Given the description of an element on the screen output the (x, y) to click on. 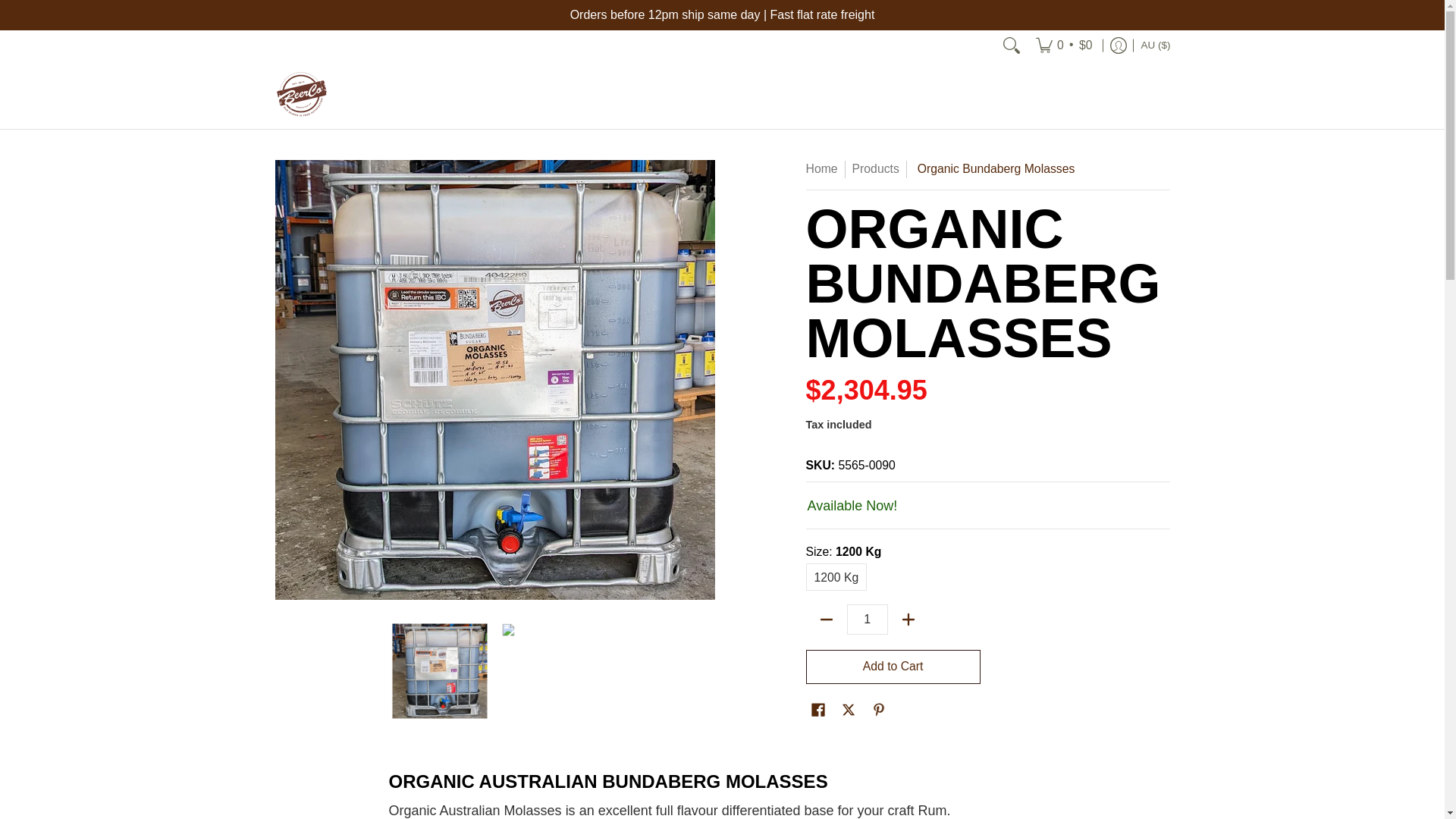
Log in (1118, 45)
BI (958, 94)
BG (961, 20)
CA (955, 203)
CM (965, 167)
Cart (1064, 45)
KH (960, 130)
CV (966, 240)
1200 Kg (836, 576)
BF (972, 57)
